Given the description of an element on the screen output the (x, y) to click on. 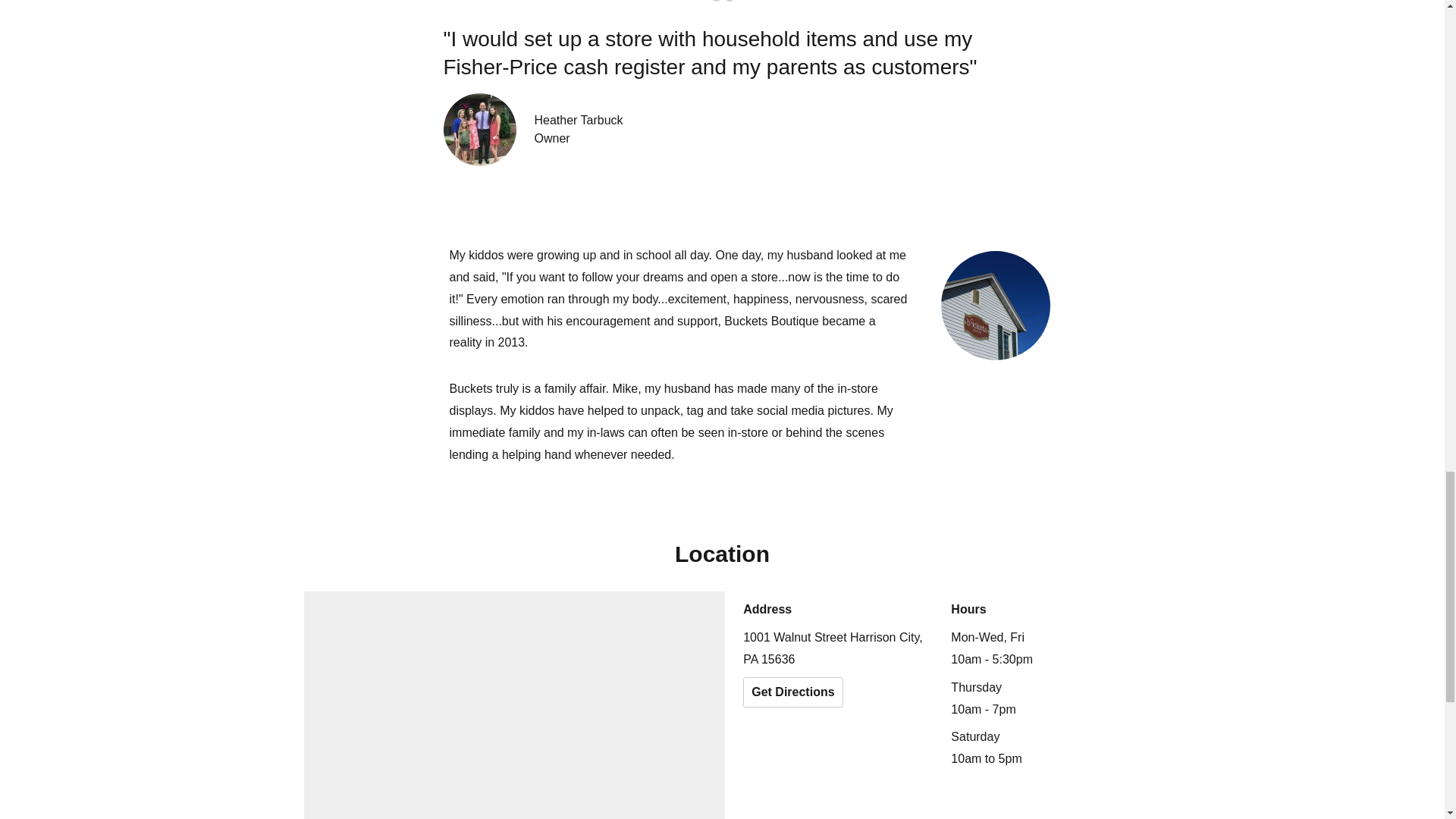
Location on map (513, 705)
